Given the description of an element on the screen output the (x, y) to click on. 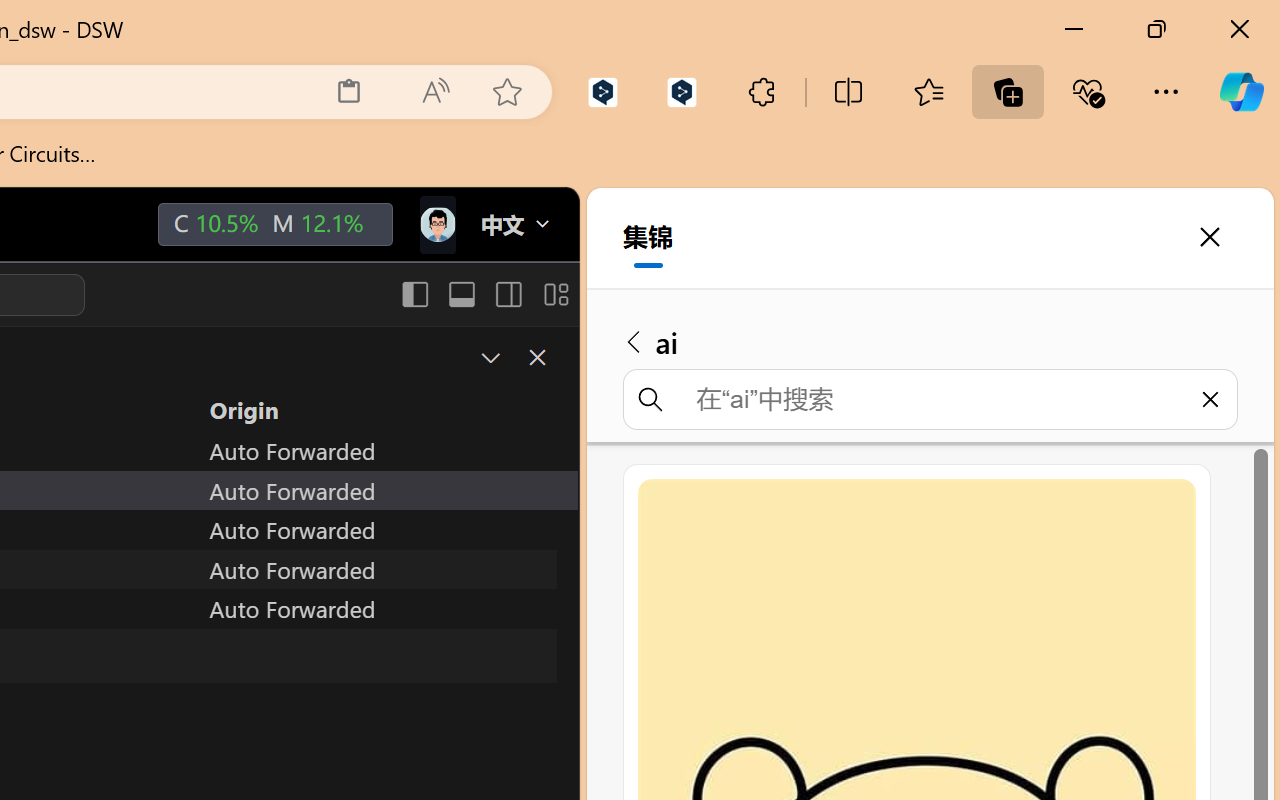
Toggle Panel (Ctrl+J) (461, 294)
Class: actions-container (516, 358)
Toggle Primary Side Bar (Ctrl+B) (413, 294)
Class: next-menu next-hoz widgets--iconMenu--BFkiHRM (436, 225)
Copilot (Ctrl+Shift+.) (1241, 91)
icon (436, 220)
